Given the description of an element on the screen output the (x, y) to click on. 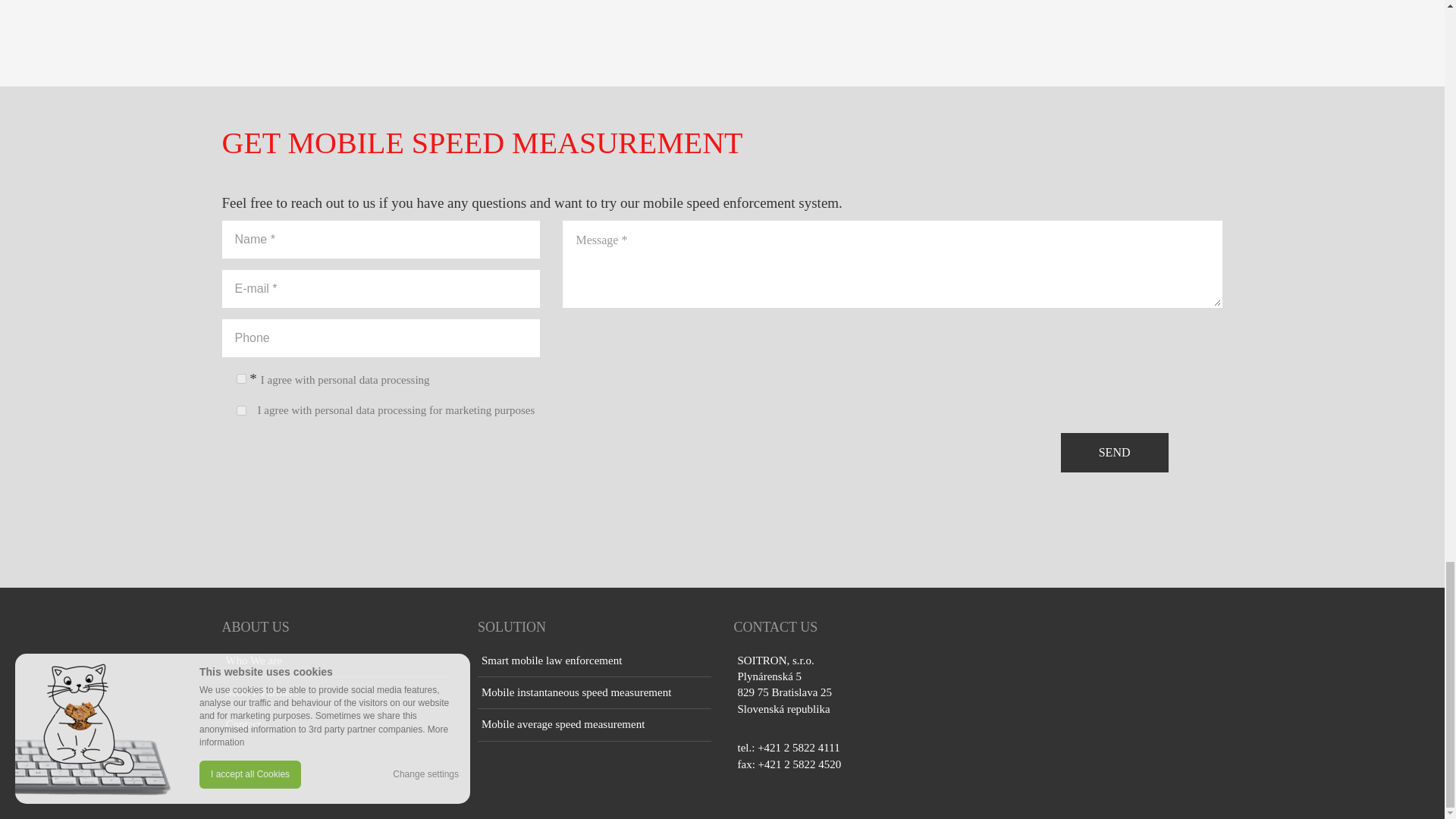
I agree with personal data processing for marketing purposes (396, 410)
Who We are (337, 660)
Send (1115, 453)
Send (1115, 453)
MOSY Partners (337, 692)
Mobile instantaneous speed measurement (594, 692)
Smart mobile law enforcement (594, 660)
Mobile average speed measurement (594, 724)
Marketing Communication (240, 410)
I agree with personal data processing (344, 379)
Contact (337, 724)
